Given the description of an element on the screen output the (x, y) to click on. 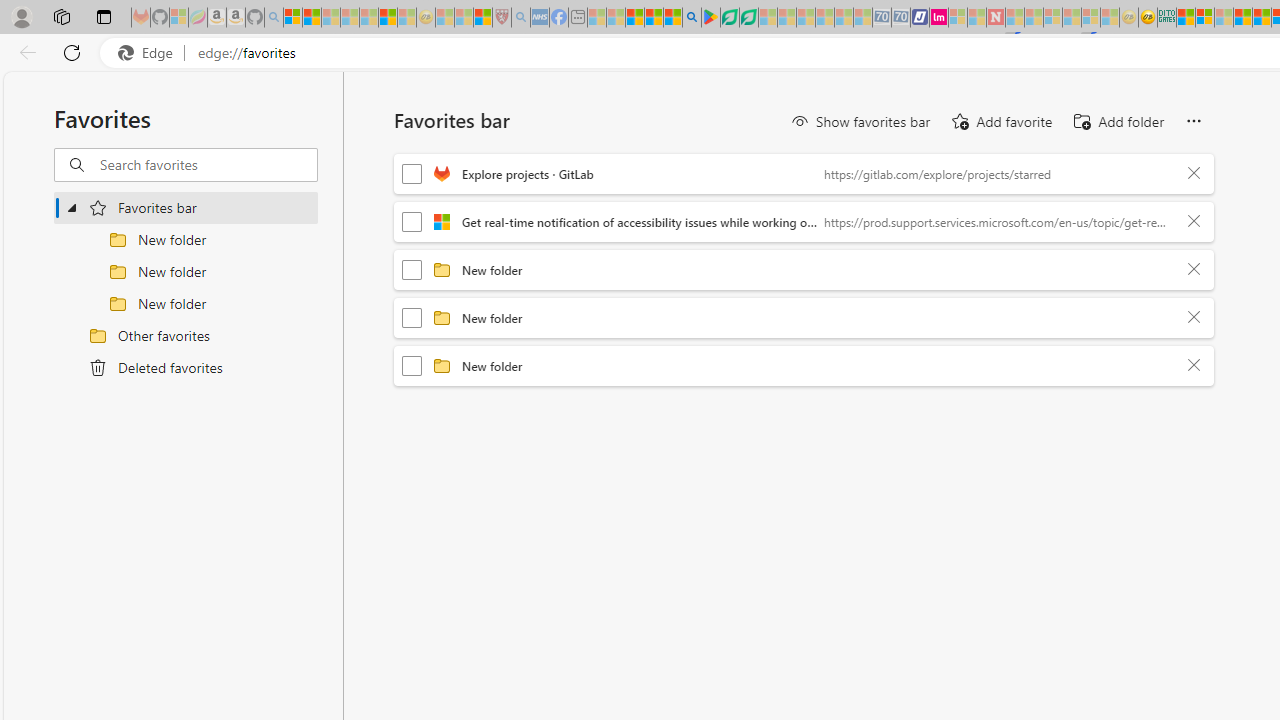
Add favorite (1000, 121)
Edge (150, 53)
MSNBC - MSN (1185, 17)
Search favorites (207, 165)
Robert H. Shmerling, MD - Harvard Health - Sleeping (501, 17)
Trusted Community Engagement and Contributions | Guidelines (1014, 17)
The Weather Channel - MSN - Sleeping (331, 17)
